Given the description of an element on the screen output the (x, y) to click on. 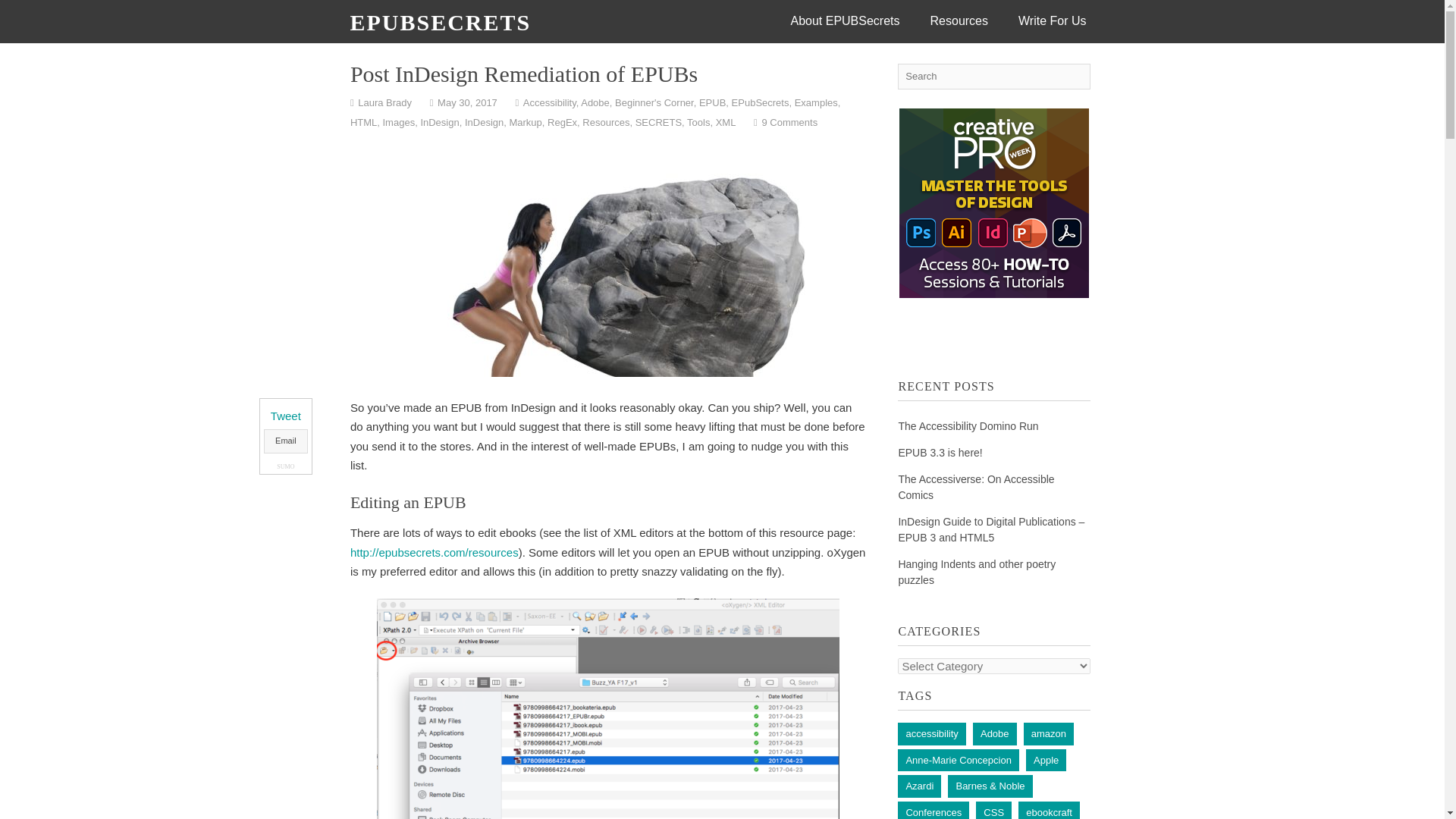
HTML (363, 122)
Write For Us (1051, 21)
Accessibility (549, 102)
Resources (959, 21)
SECRETS (657, 122)
Tweet (285, 415)
SUMO (285, 466)
Email (285, 441)
Beginner'S Corner (654, 102)
EPUB (711, 102)
